Given the description of an element on the screen output the (x, y) to click on. 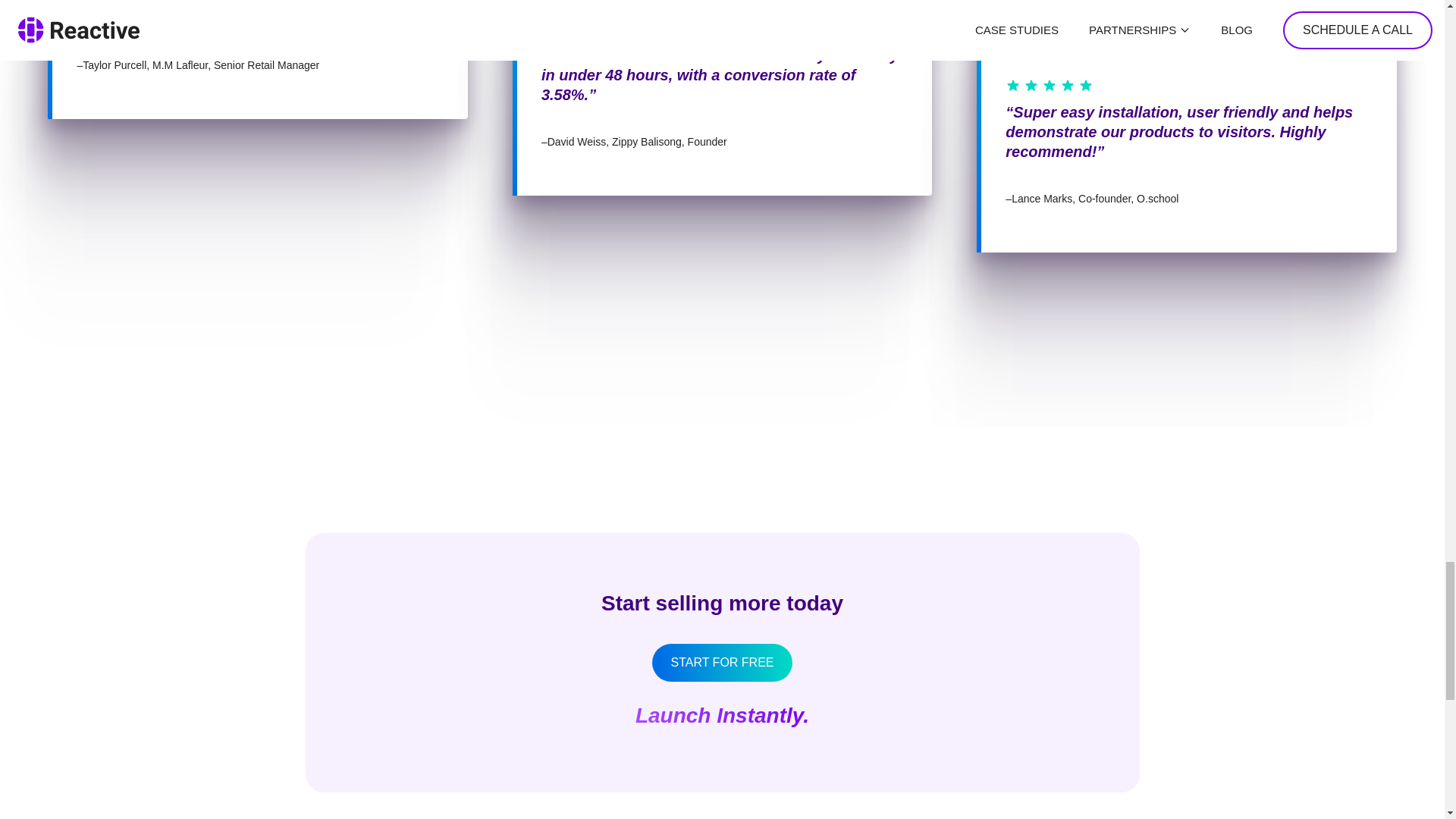
START FOR FREE (722, 662)
